Given the description of an element on the screen output the (x, y) to click on. 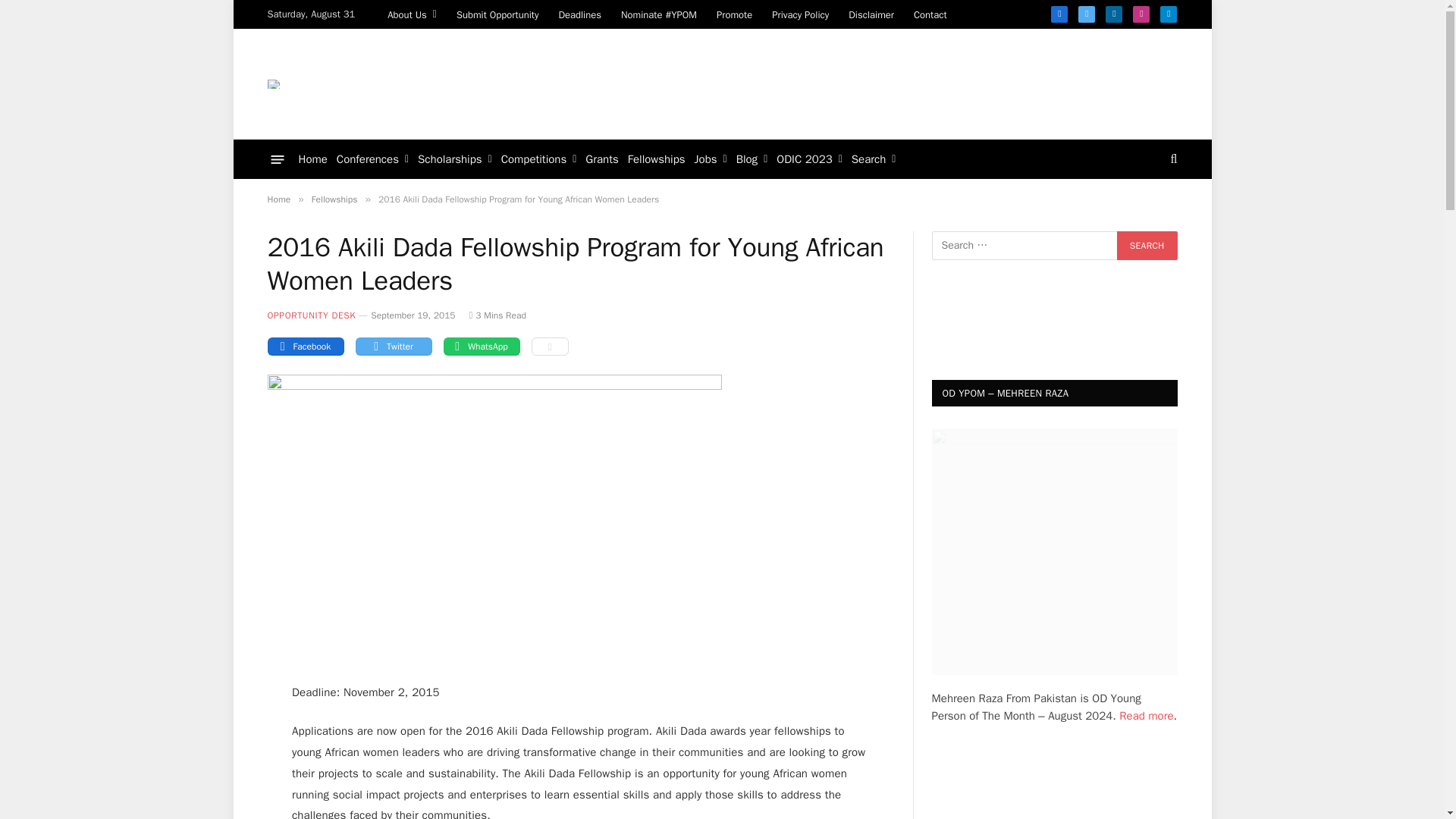
Show More Social Sharing (549, 346)
Posts by Opportunity Desk (310, 315)
Share on Facebook (304, 346)
Search (1146, 245)
Search (1146, 245)
Share on WhatsApp (480, 346)
